Given the description of an element on the screen output the (x, y) to click on. 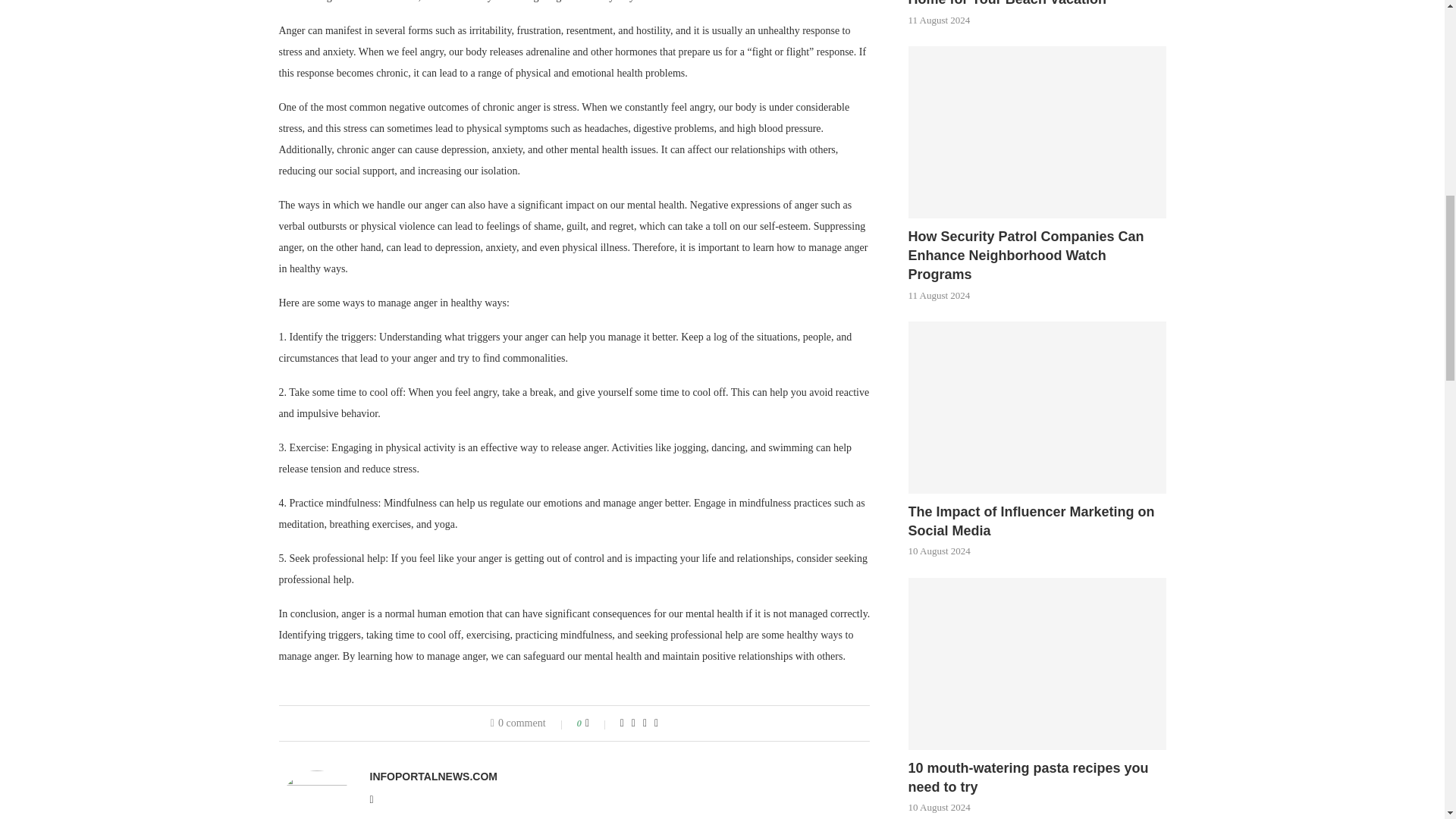
Like (597, 723)
Author infoportalnews.com (433, 776)
INFOPORTALNEWS.COM (433, 776)
